Given the description of an element on the screen output the (x, y) to click on. 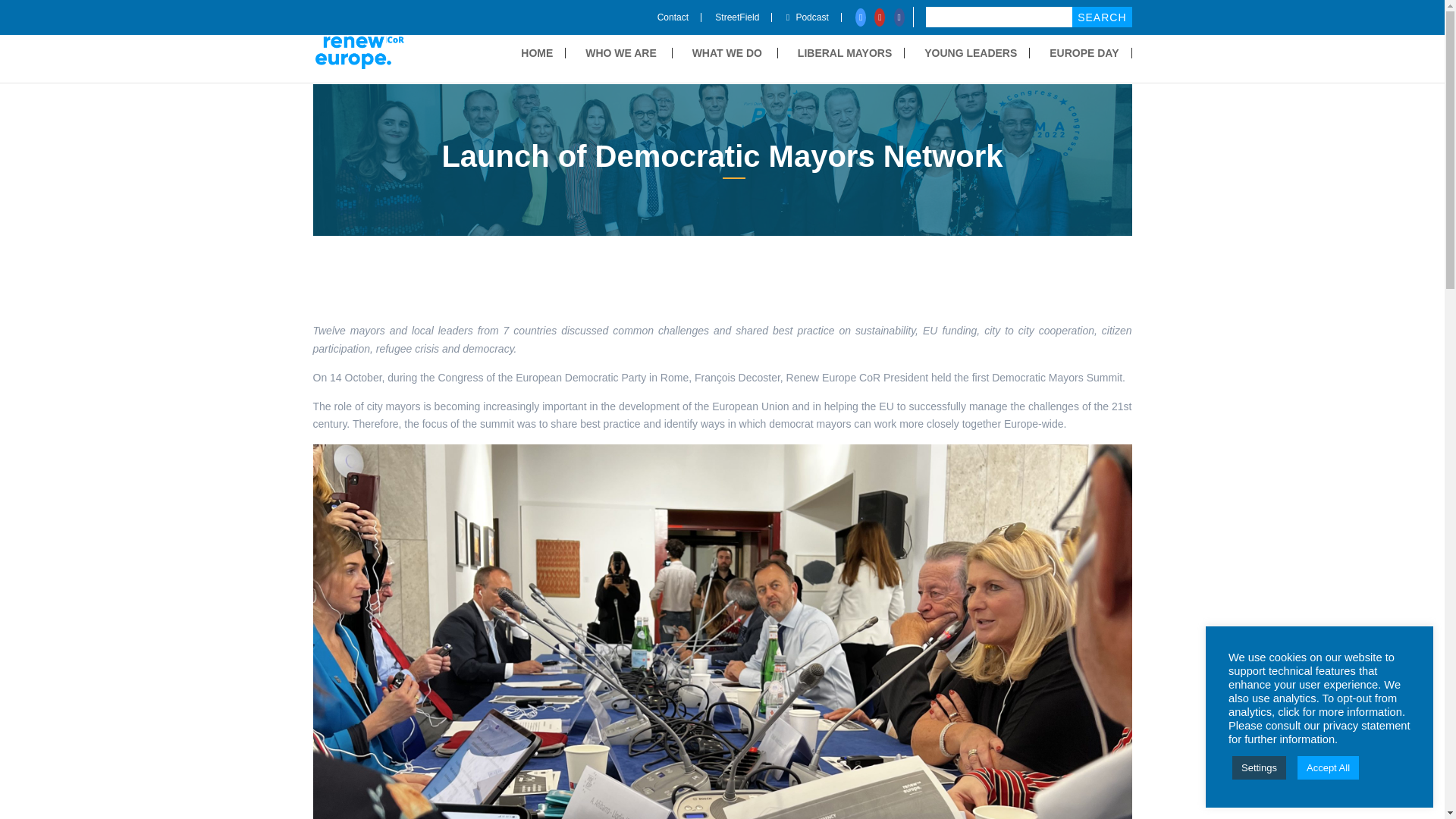
HOME (543, 52)
WHAT WE DO (735, 52)
WHO WE ARE (628, 52)
Contact (679, 17)
Podcast (813, 17)
StreetField (742, 17)
Search (1101, 16)
Search for: (1021, 16)
YOUNG LEADERS (976, 52)
Search (1101, 16)
EUROPE DAY (1090, 52)
LIBERAL MAYORS (850, 52)
